Given the description of an element on the screen output the (x, y) to click on. 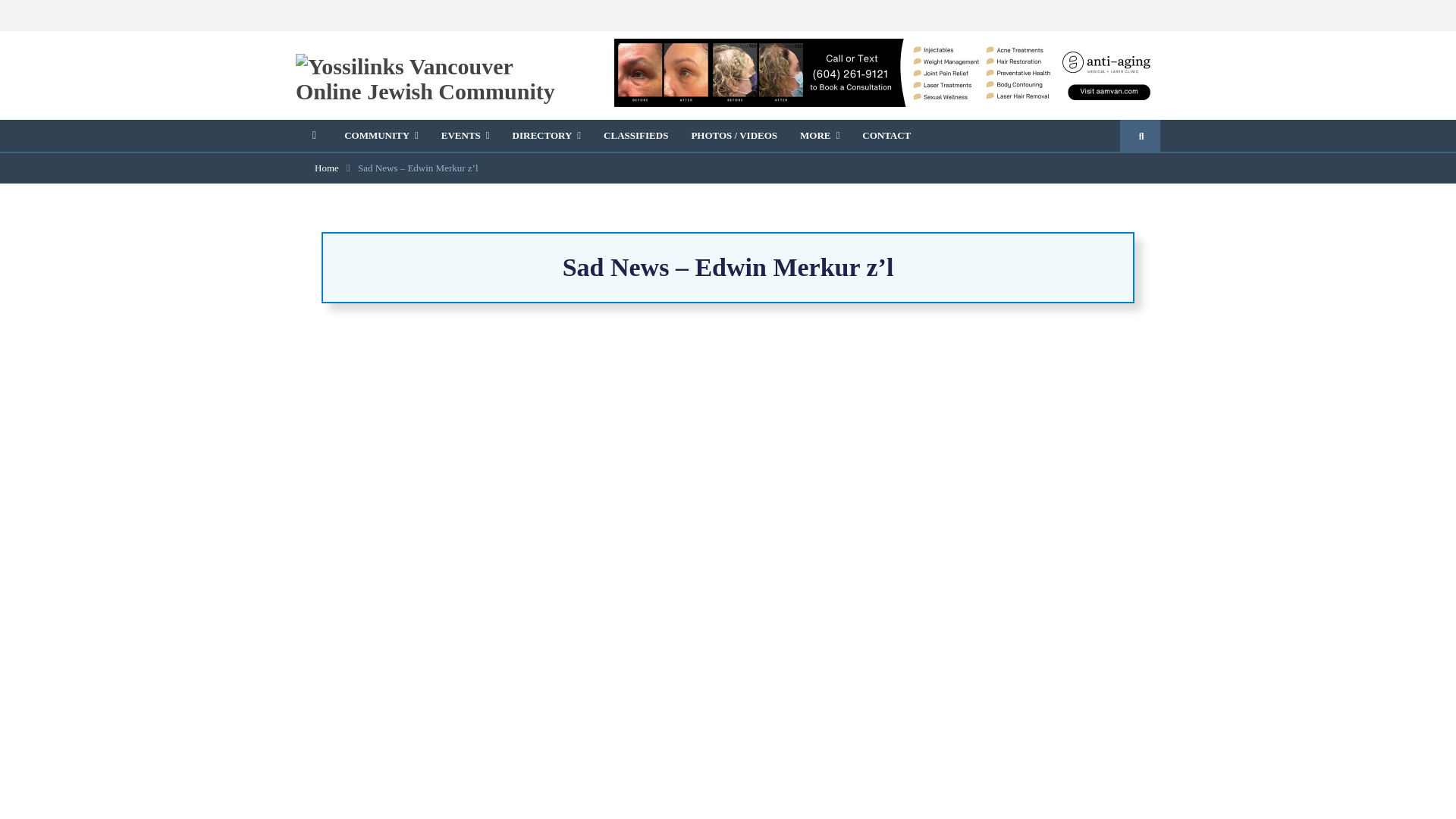
Yossilinks Vancouver Online Jewish Community (326, 167)
MORE (819, 136)
DIRECTORY (546, 136)
COMMUNITY (381, 136)
EVENTS (464, 136)
CONTACT (885, 136)
Home (326, 167)
CLASSIFIEDS (635, 136)
